Given the description of an element on the screen output the (x, y) to click on. 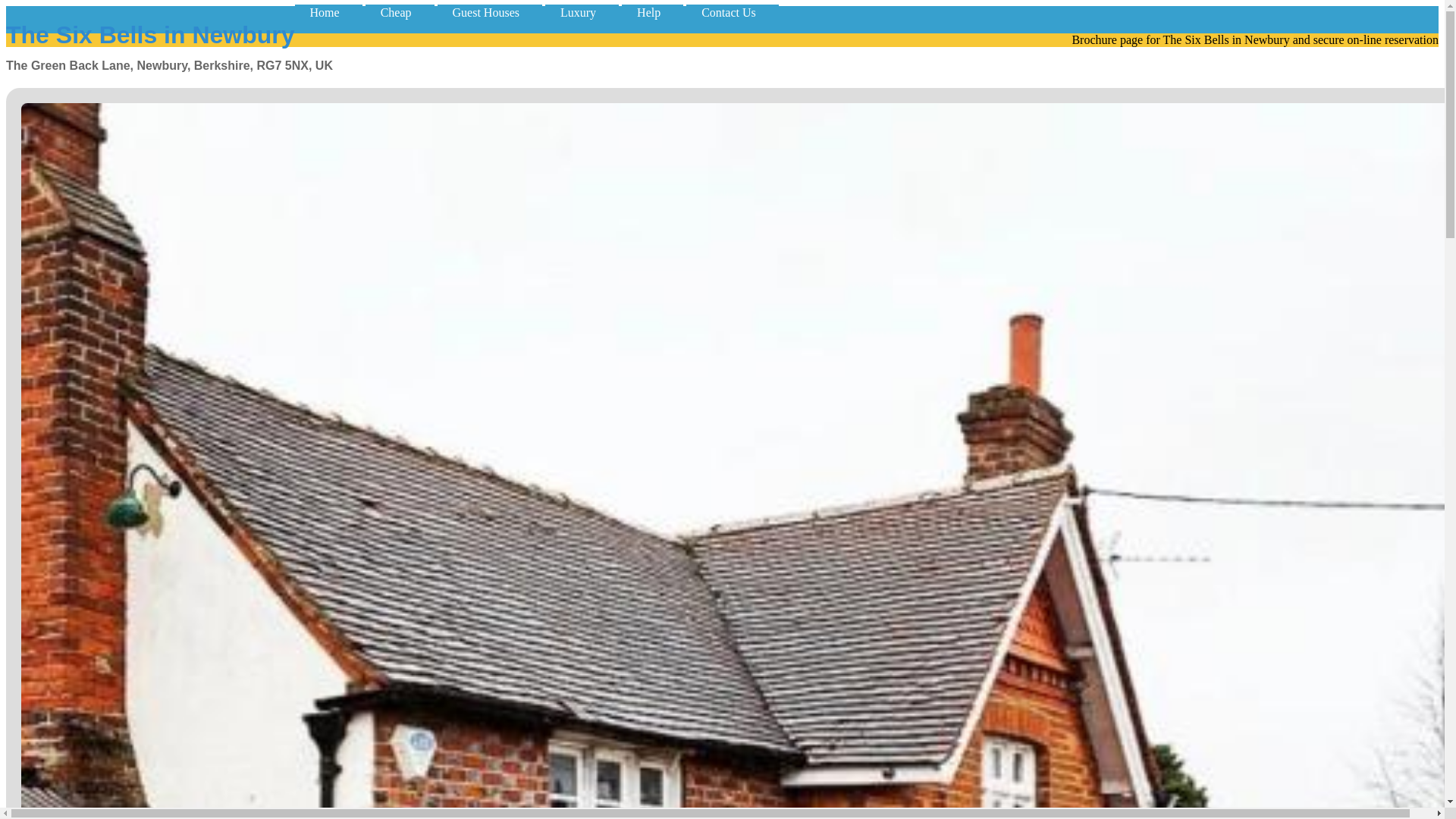
Guest Houses (489, 12)
Cheap (399, 12)
Newbury guest houses (489, 12)
Contact Us Form (731, 12)
Luxury Accommodation (581, 12)
Contact Us (731, 12)
Help With Your Booking (651, 12)
Luxury (581, 12)
Help (651, 12)
Cheap Accommodation (399, 12)
Home (328, 12)
